Given the description of an element on the screen output the (x, y) to click on. 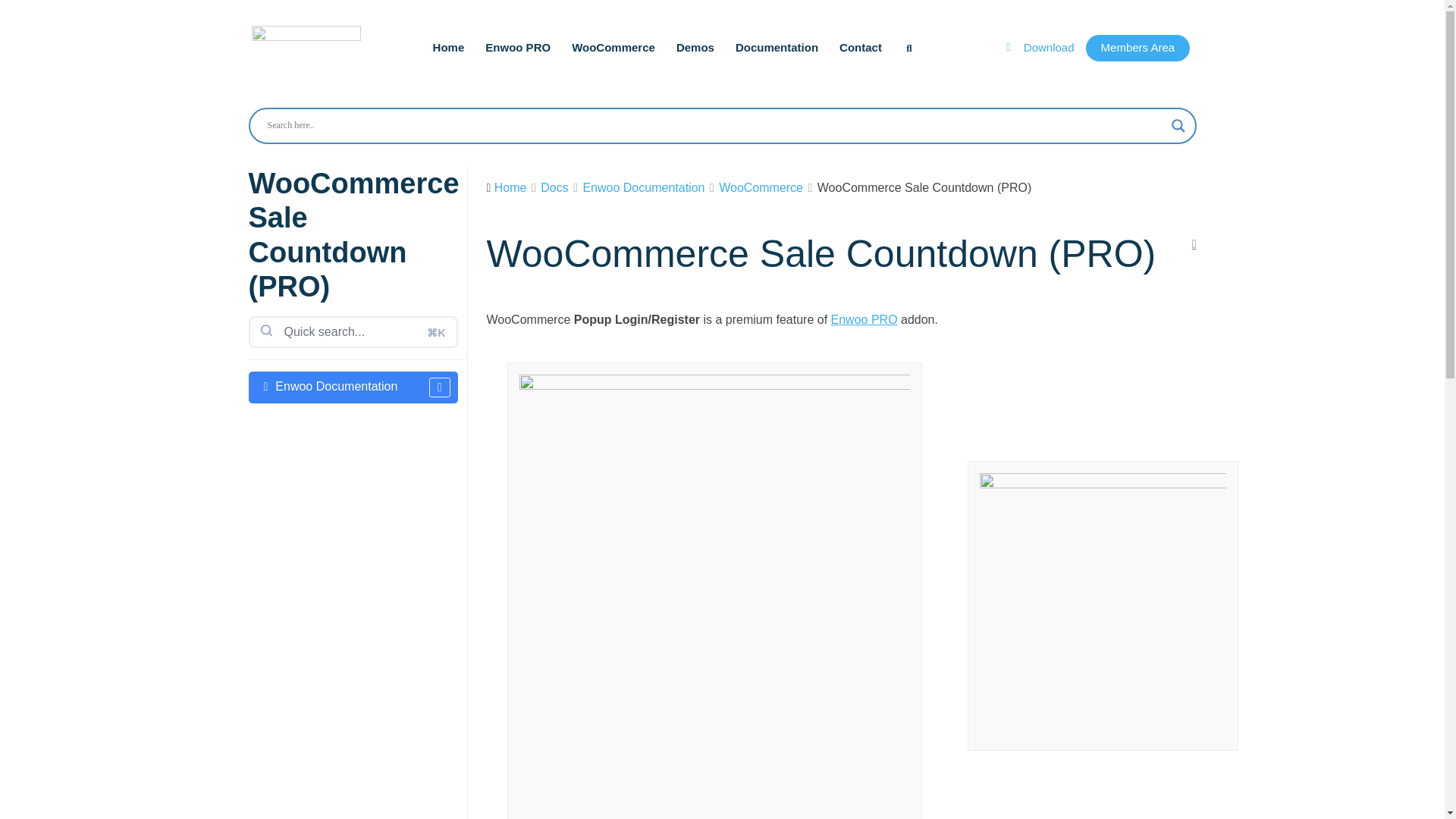
Enwoo Documentation (353, 387)
Documentation (776, 47)
Demos (695, 47)
Print this article (1194, 244)
Members Area (1138, 48)
Download (1045, 47)
Home (448, 47)
Search for: (353, 332)
Enwoo PRO (517, 47)
Contact (861, 47)
WooCommerce (665, 47)
Members Area (613, 47)
Download (1138, 48)
